Given the description of an element on the screen output the (x, y) to click on. 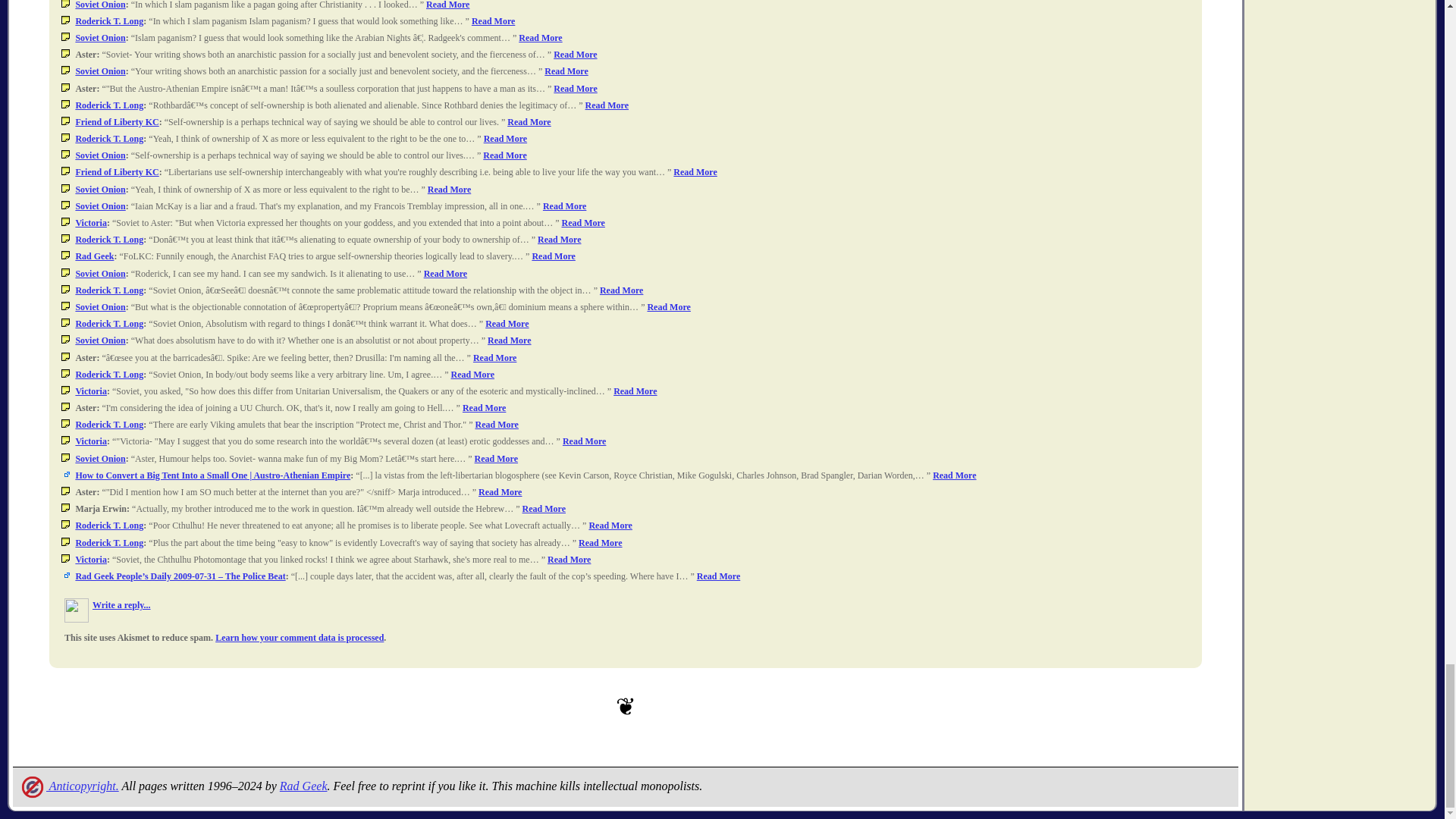
Rad Geek People's Daily: Contact Me (303, 785)
